Given the description of an element on the screen output the (x, y) to click on. 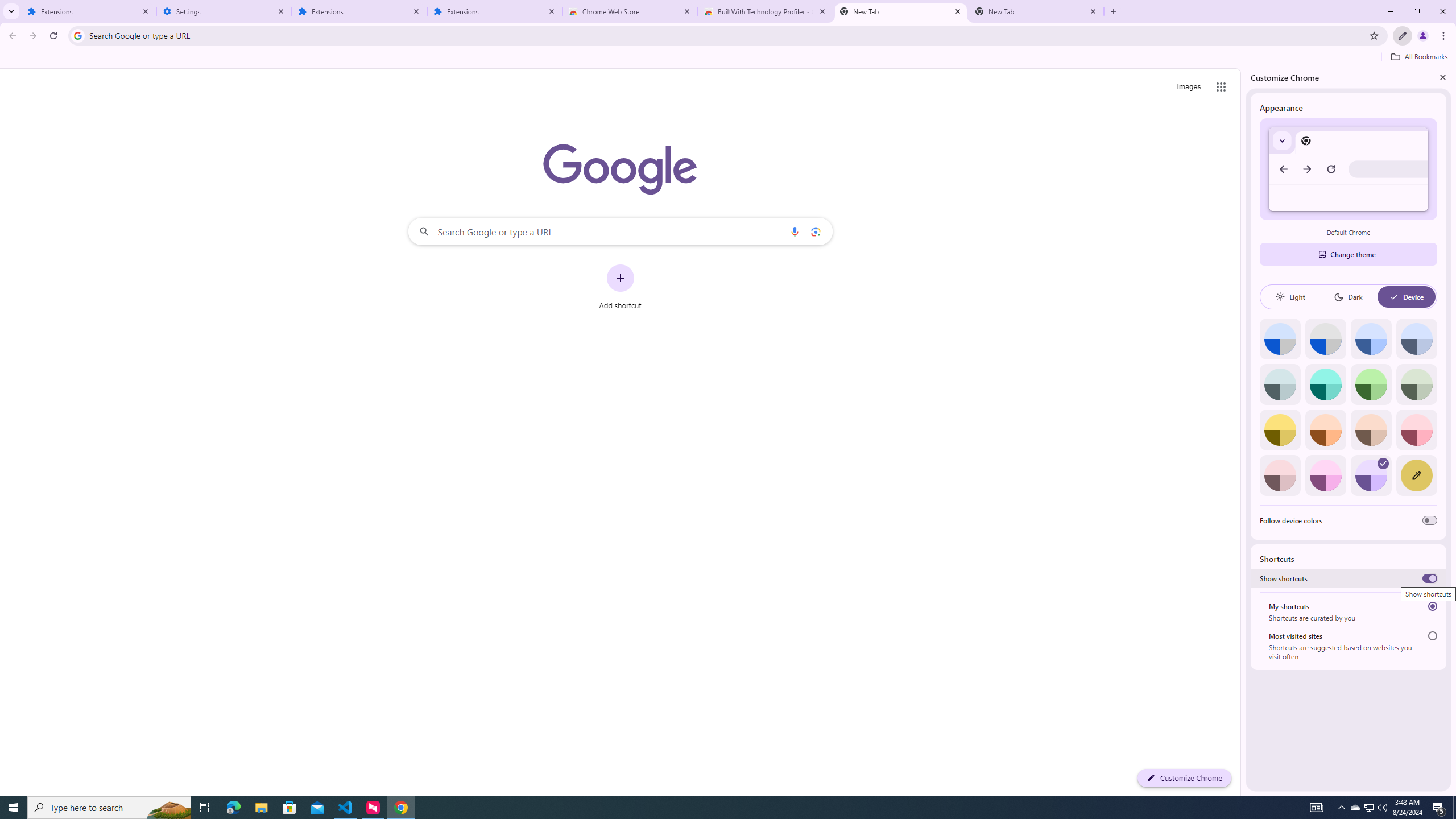
Restore (1416, 11)
Orange (1325, 429)
Bookmark this tab (1373, 35)
Search Google or type a URL (619, 230)
Chrome (1445, 35)
Extensions (88, 11)
AutomationID: baseSvg (1394, 296)
Most visited sites (1432, 635)
Forward (32, 35)
Search by image (816, 230)
Grey default color (1325, 338)
My shortcuts (1432, 605)
Rose (1416, 429)
Pink (1279, 475)
Minimize (1390, 11)
